Given the description of an element on the screen output the (x, y) to click on. 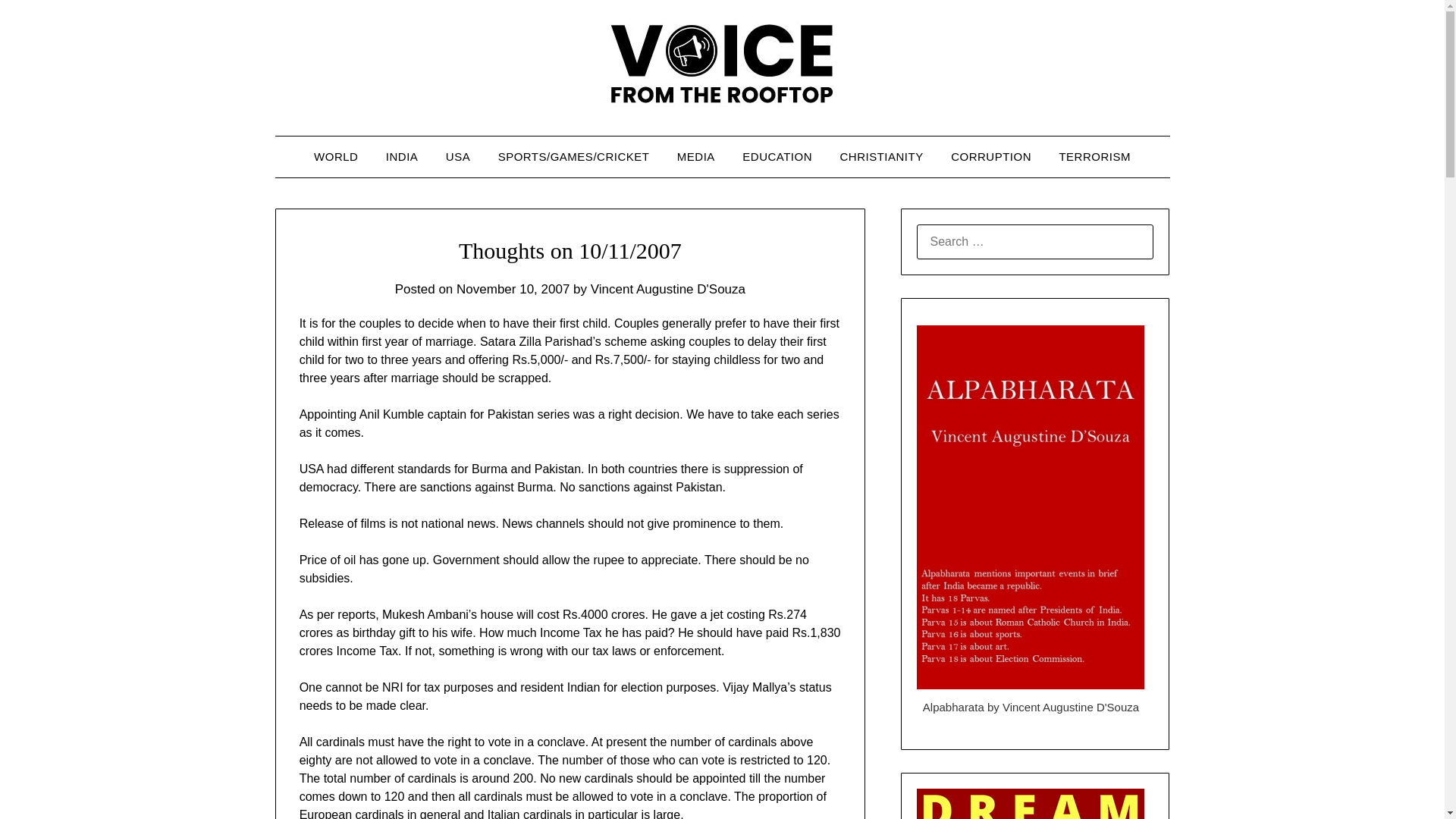
WORLD (335, 156)
Blog posts on education (777, 156)
Comments on World Politics and World Economy (335, 156)
Search (38, 22)
CORRUPTION (991, 156)
Blog posts on media, TV channels, newspapers (695, 156)
Blog posts on corruption (991, 156)
TERRORISM (1094, 156)
Blog posts on terrorism (1094, 156)
CHRISTIANITY (882, 156)
Thoughts and comments on USA Politics, Economy and Policies (457, 156)
USA (457, 156)
November 10, 2007 (513, 288)
Vincent Augustine D'Souza (668, 288)
Blog posts on cricket, sports and games (574, 156)
